Given the description of an element on the screen output the (x, y) to click on. 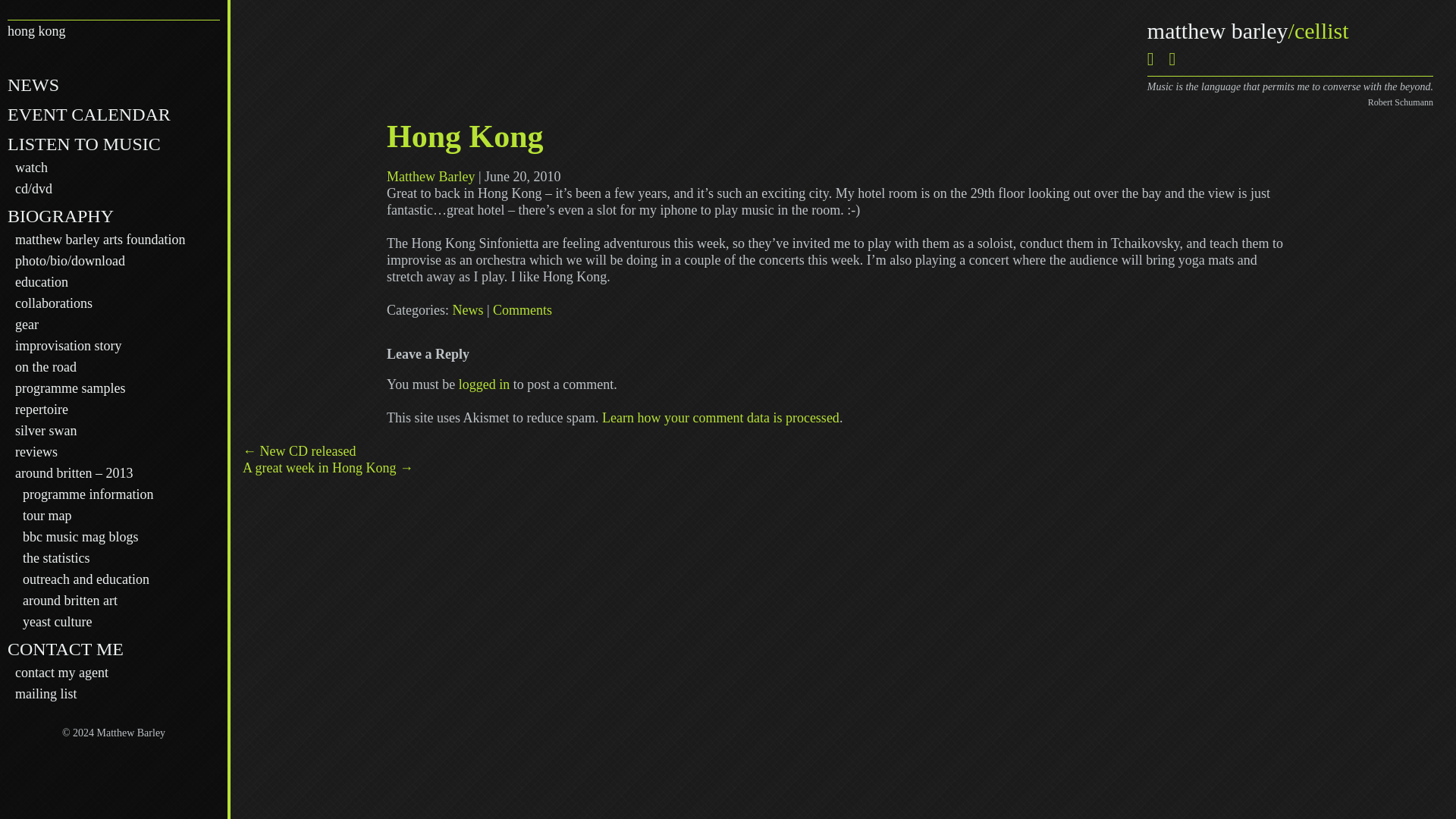
outreach and education (86, 579)
tour map (47, 515)
reviews (36, 451)
collaborations (53, 303)
around britten art (70, 600)
contact my agent (60, 672)
NEWS (33, 85)
BIOGRAPHY (60, 216)
silver swan (45, 430)
on the road (45, 366)
yeast culture (57, 621)
logged in (484, 384)
mailing list (45, 693)
Hong Kong (465, 135)
programme information (87, 494)
